Given the description of an element on the screen output the (x, y) to click on. 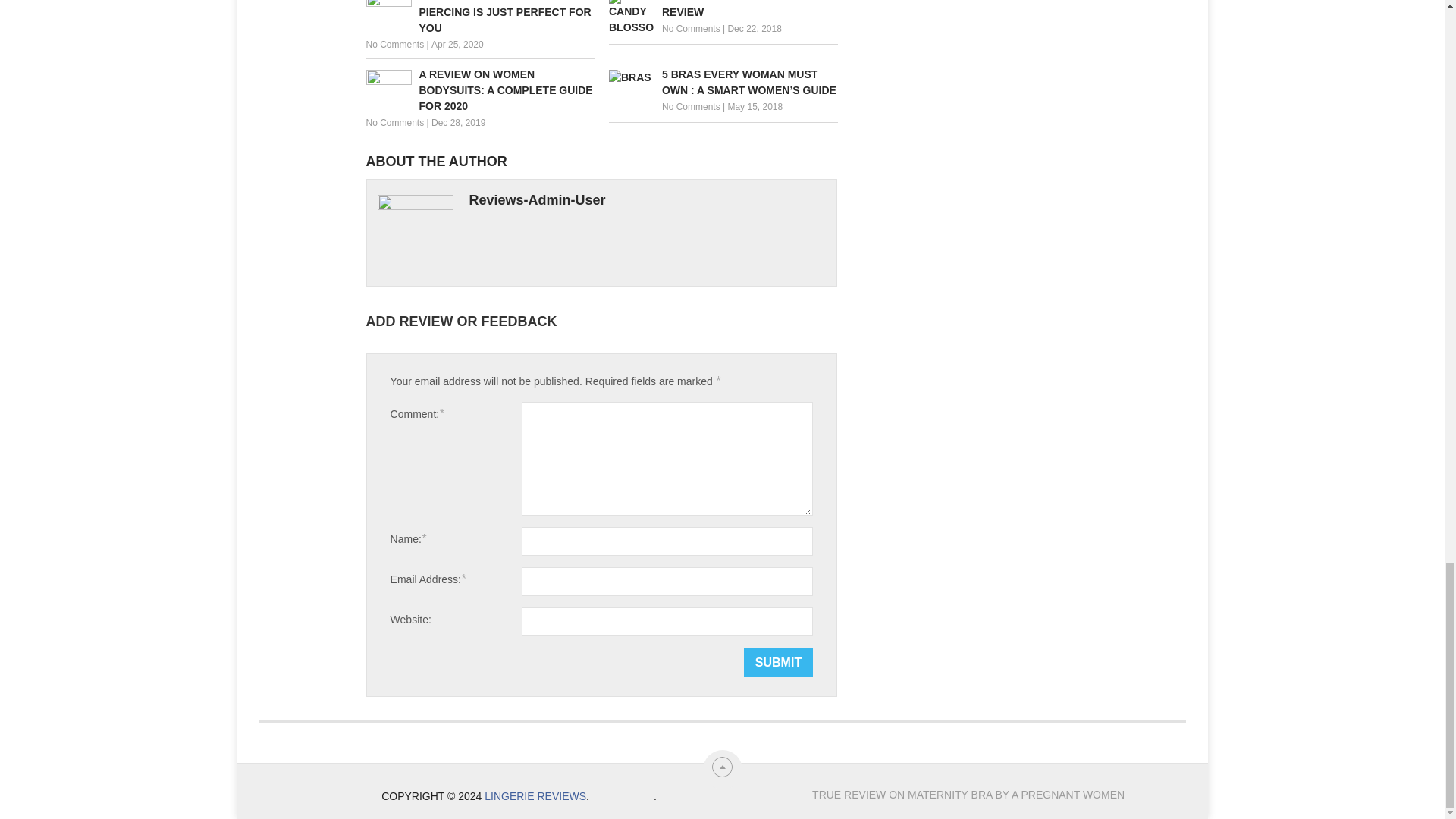
No Comments (691, 28)
Submit (778, 662)
Our Collection For Daith Piercing Is Just Perfect For You (479, 18)
LINGERIE REVIEWS (535, 796)
Submit (778, 662)
No Comments (394, 122)
No Comments (691, 106)
TRUE REVIEW ON MATERNITY BRA BY A PREGNANT WOMEN (968, 794)
Candy Blossom Nursing Bra Review (723, 10)
A Review on Women Bodysuits: A Complete Guide for 2020 (479, 90)
CANDY BLOSSOM NURSING BRA REVIEW (723, 10)
OUR COLLECTION FOR DAITH PIERCING IS JUST PERFECT FOR YOU (479, 18)
No Comments (394, 44)
A REVIEW ON WOMEN BODYSUITS: A COMPLETE GUIDE FOR 2020 (479, 90)
